Given the description of an element on the screen output the (x, y) to click on. 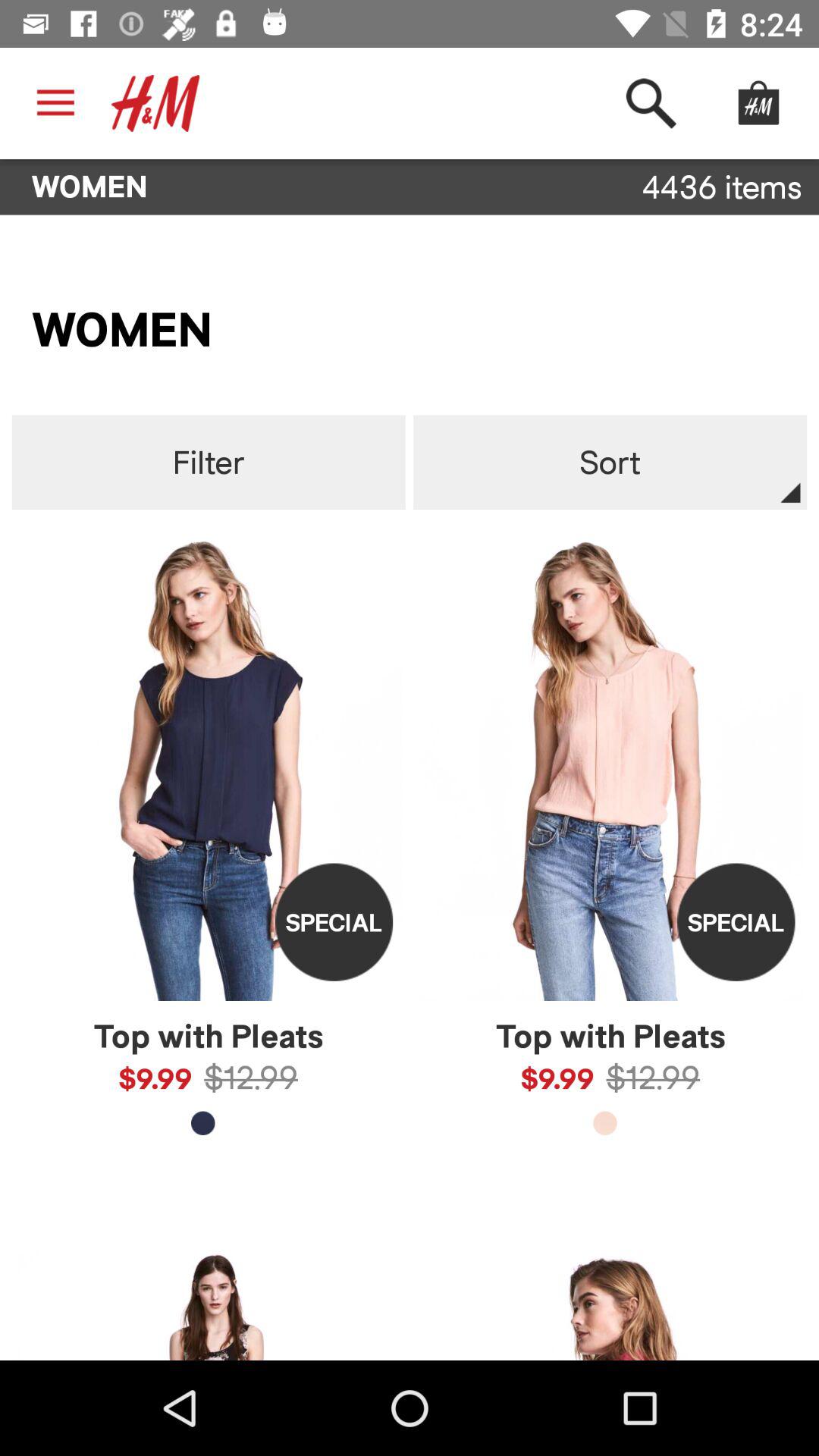
flip until filter item (208, 462)
